Given the description of an element on the screen output the (x, y) to click on. 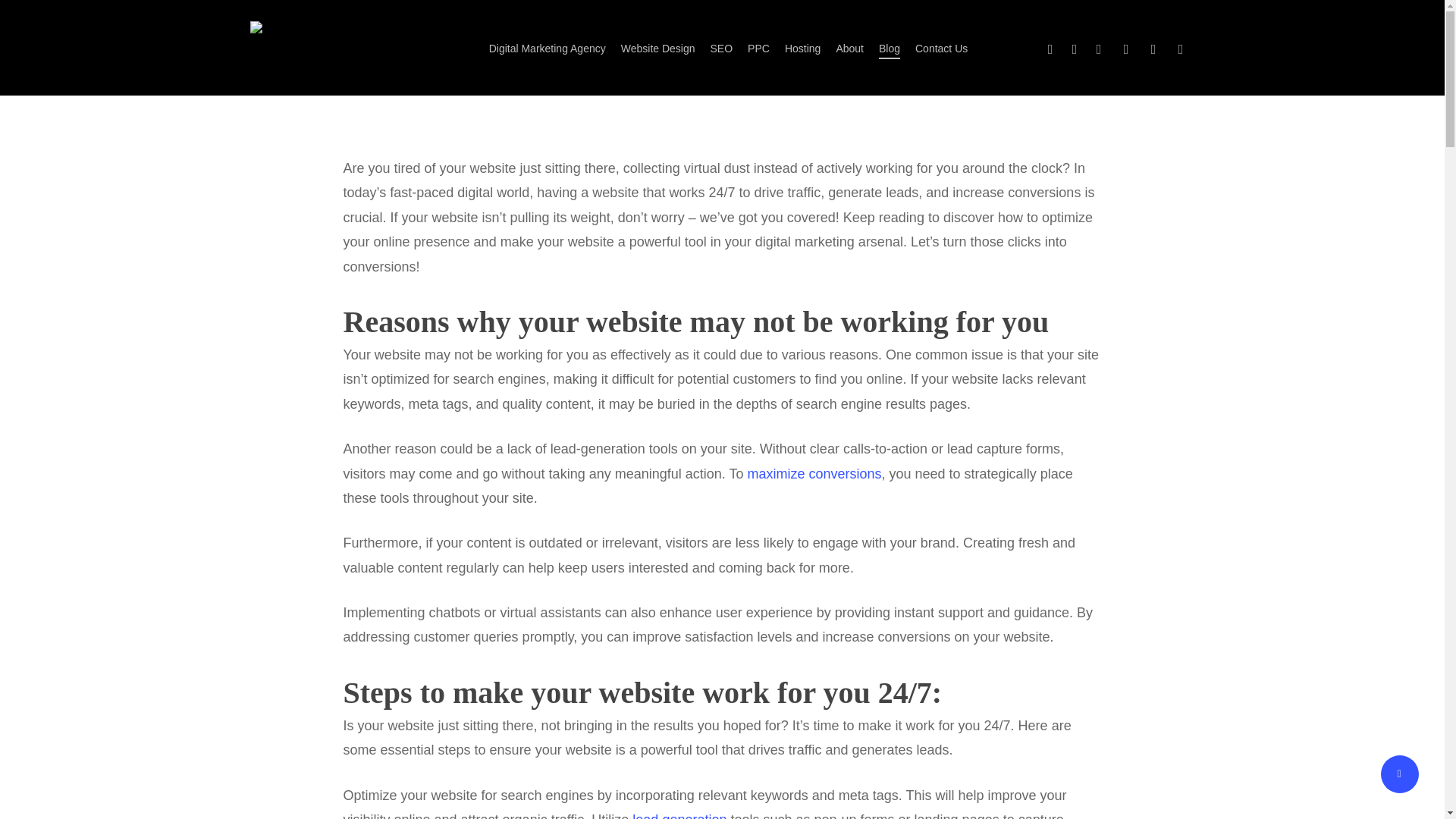
lead generation (678, 815)
PPC (759, 48)
phone (1153, 47)
Digital Marketing Agency (547, 48)
maximize conversions (813, 473)
About (849, 48)
linkedin (1098, 47)
Contact Us (941, 48)
SEO (721, 48)
Blog (889, 48)
instagram (1126, 47)
twitter (1050, 47)
facebook (1074, 47)
Hosting (802, 48)
Website Design (658, 48)
